Given the description of an element on the screen output the (x, y) to click on. 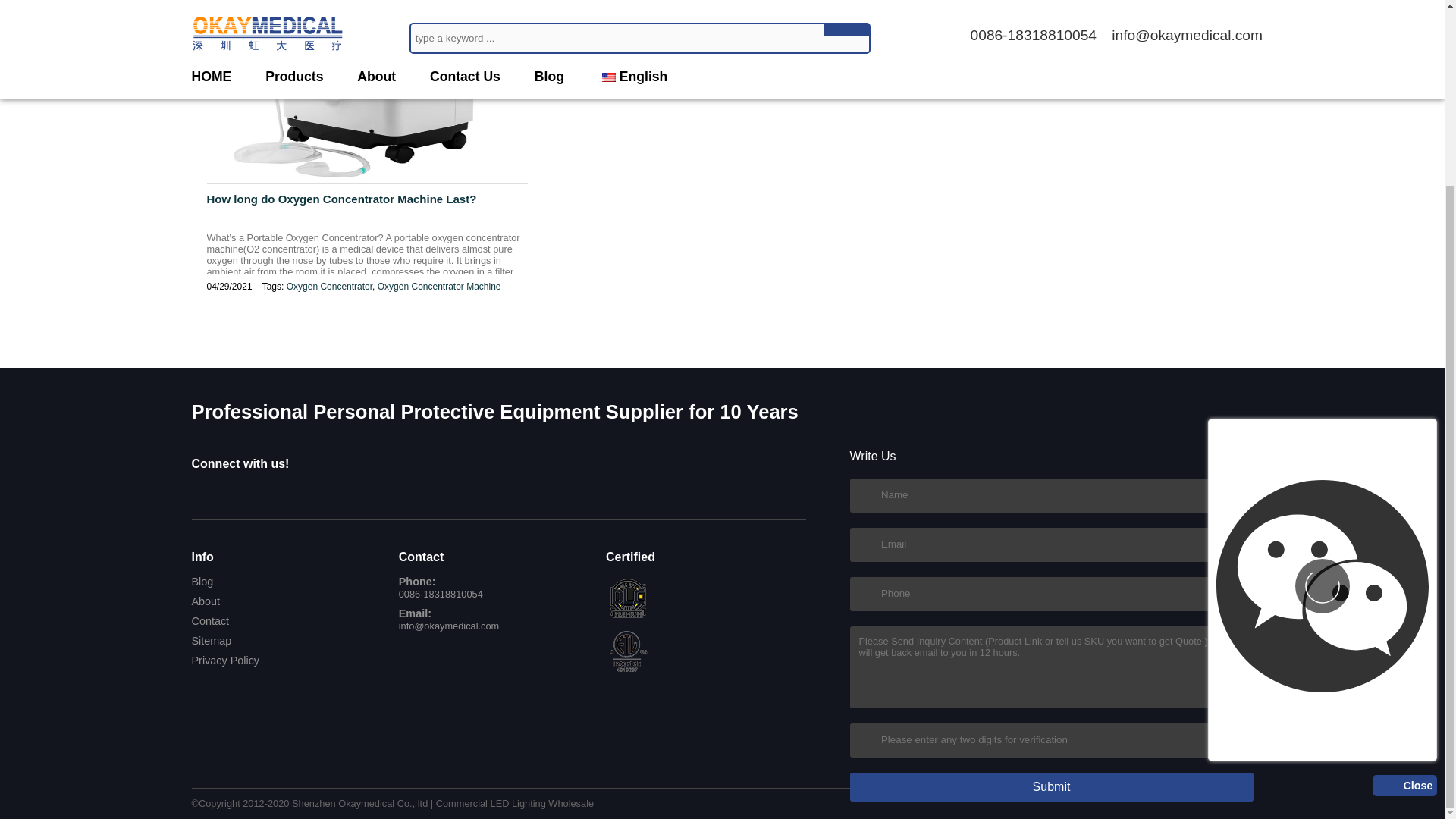
Submit (1050, 787)
Submit (1050, 787)
Oxygen Concentrator Machine (438, 286)
How long do Oxygen Concentrator Machine Last? (366, 207)
Oxygen Concentrator (329, 286)
